Given the description of an element on the screen output the (x, y) to click on. 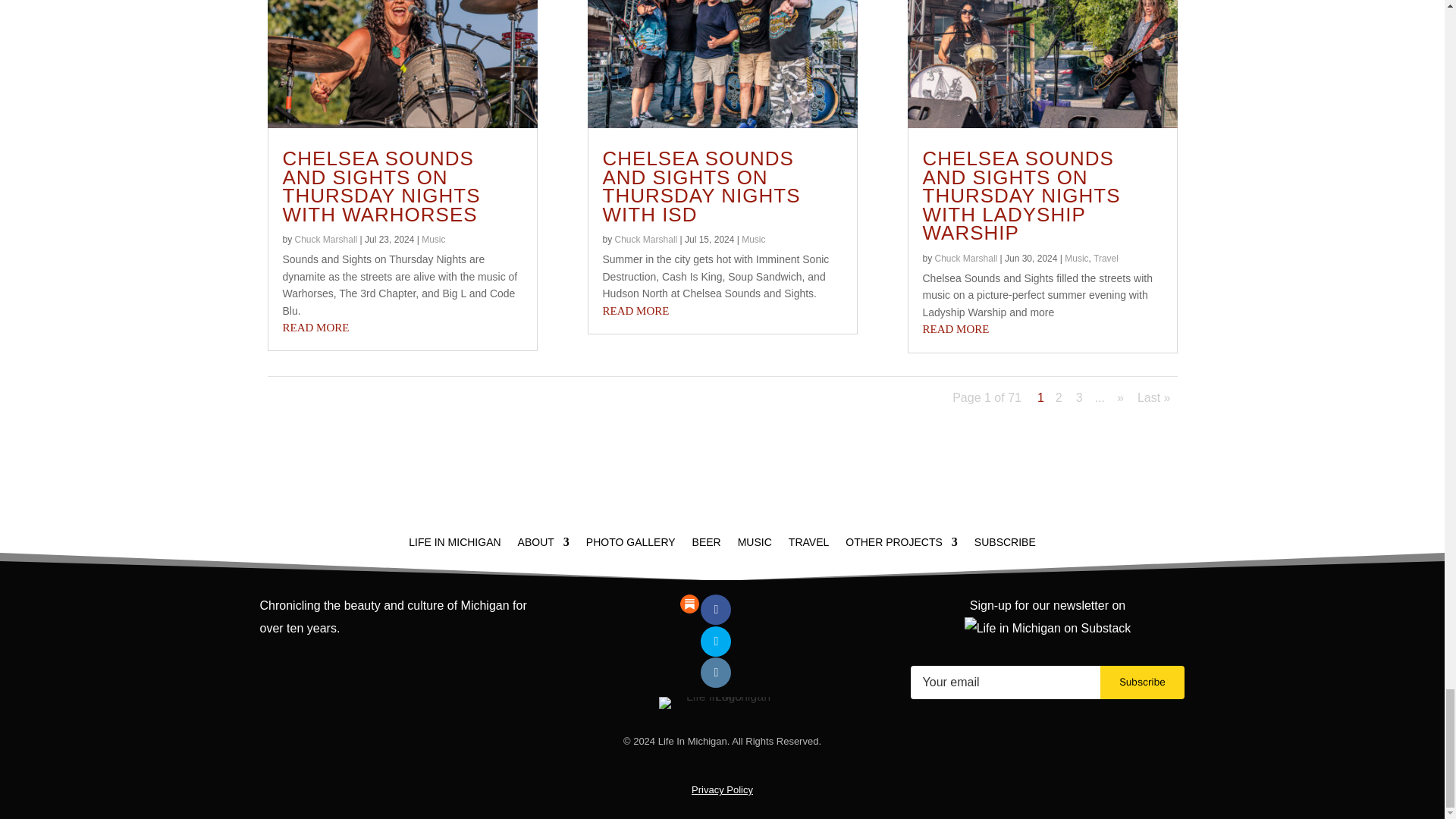
Posts by Chuck Marshall (326, 239)
Posts by Chuck Marshall (965, 258)
Posts by Chuck Marshall (646, 239)
Life-In-MI 2024 logo (721, 702)
